Given the description of an element on the screen output the (x, y) to click on. 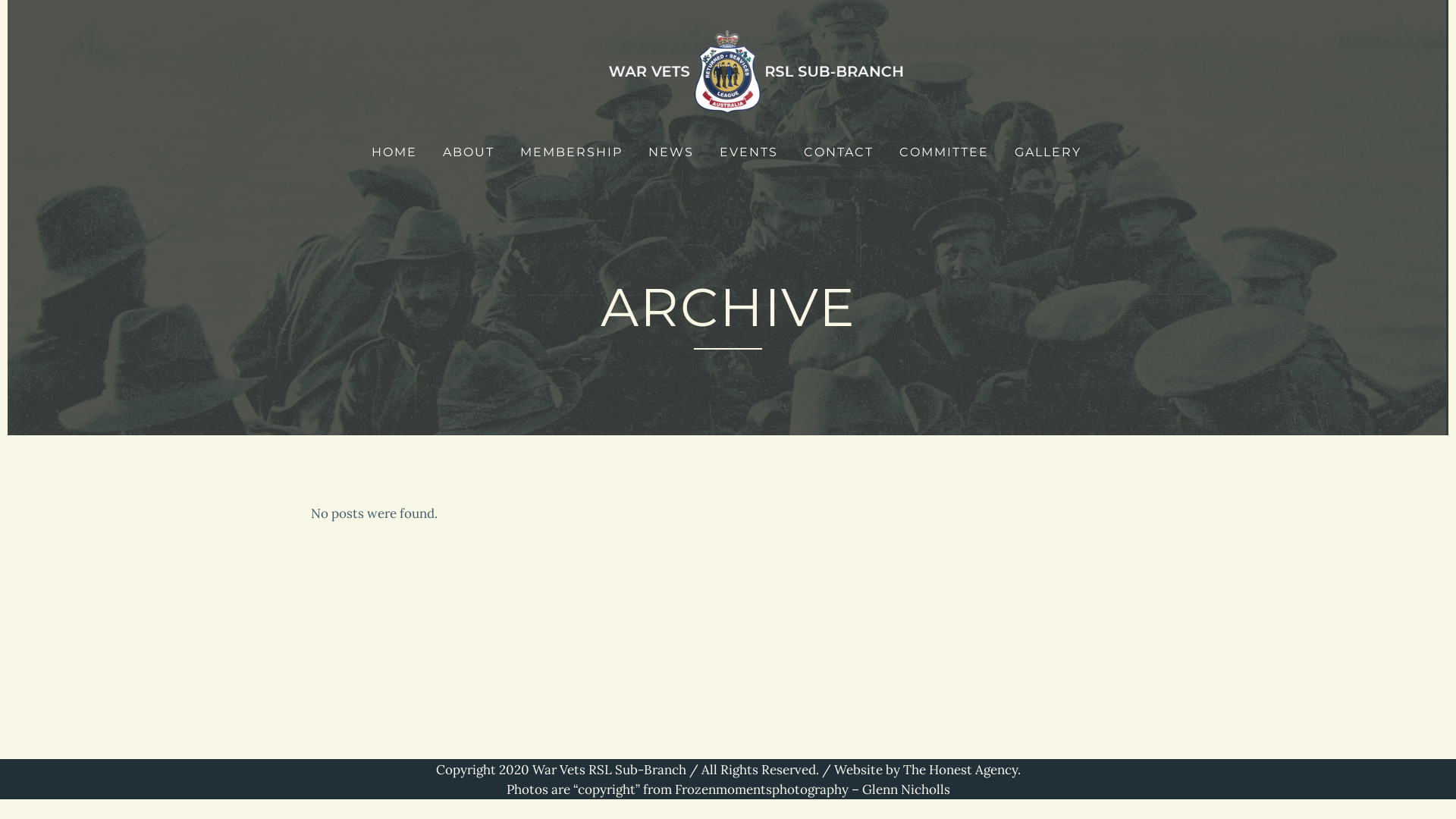
CONTACT Element type: text (838, 151)
GALLERY Element type: text (1047, 151)
NEWS Element type: text (670, 151)
MEMBERSHIP Element type: text (571, 151)
HOME Element type: text (393, 151)
EVENTS Element type: text (748, 151)
ABOUT Element type: text (468, 151)
The Honest Agency. Element type: text (960, 769)
COMMITTEE Element type: text (943, 151)
